Given the description of an element on the screen output the (x, y) to click on. 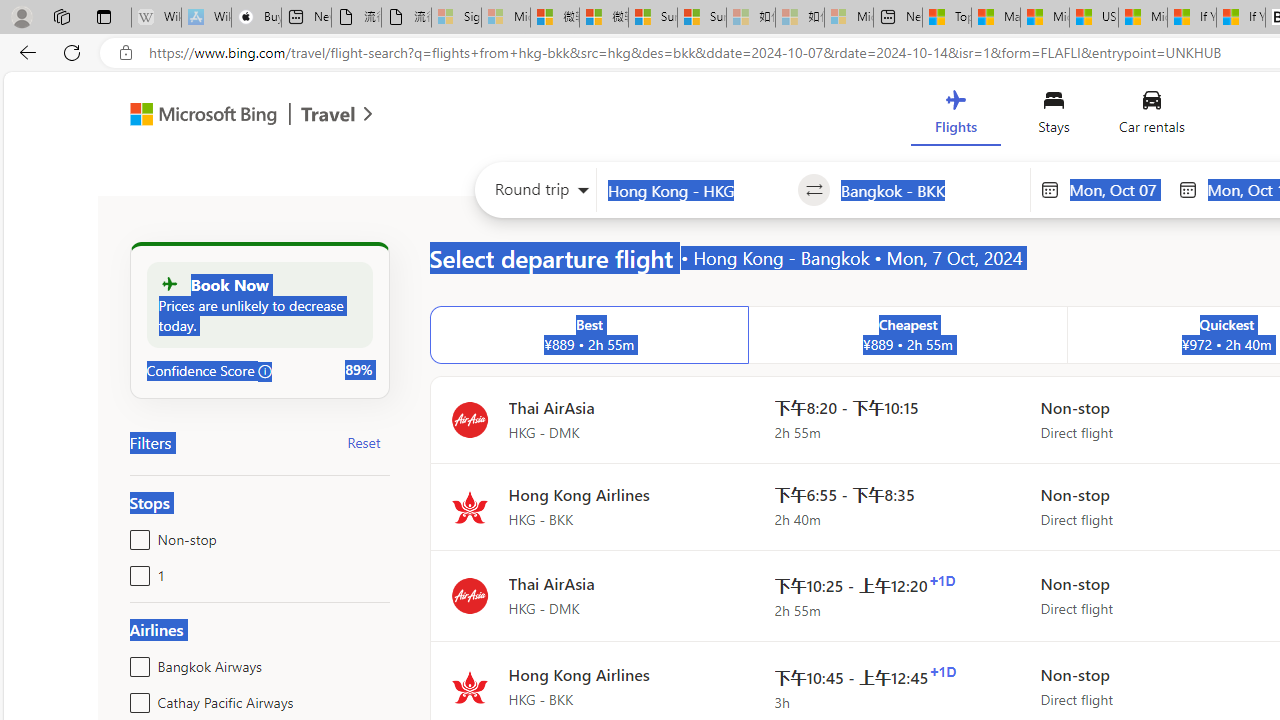
Top Stories - MSN (946, 17)
Stays (1053, 116)
Microsoft account | Account Checkup - Sleeping (848, 17)
Class: autosuggest-container full-height no-y-padding (930, 190)
Class: msft-travel-logo (328, 114)
Buy iPad - Apple (256, 17)
Flight logo (469, 687)
Swap source and destination (813, 189)
